Given the description of an element on the screen output the (x, y) to click on. 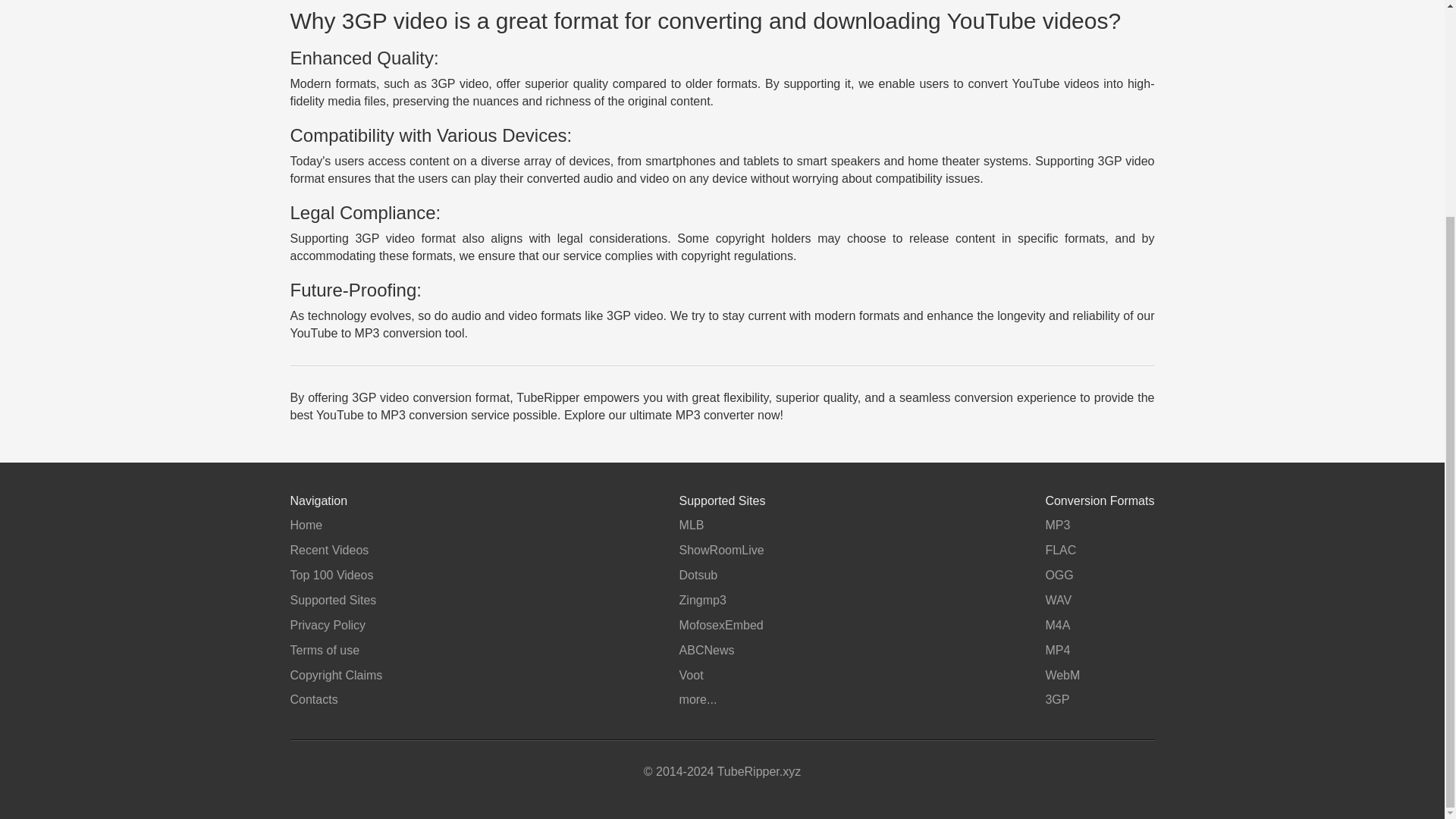
Recent Videos (328, 549)
Copyright Claims (335, 675)
more... (698, 698)
ABCNews (707, 649)
Contacts (313, 698)
MP3 (1057, 524)
FLAC (1060, 549)
M4A (1057, 625)
OGG (1059, 574)
Top 100 Videos (330, 574)
MP4 (1057, 649)
Voot (691, 675)
Dotsub (698, 574)
WebM (1062, 675)
WAV (1058, 599)
